Given the description of an element on the screen output the (x, y) to click on. 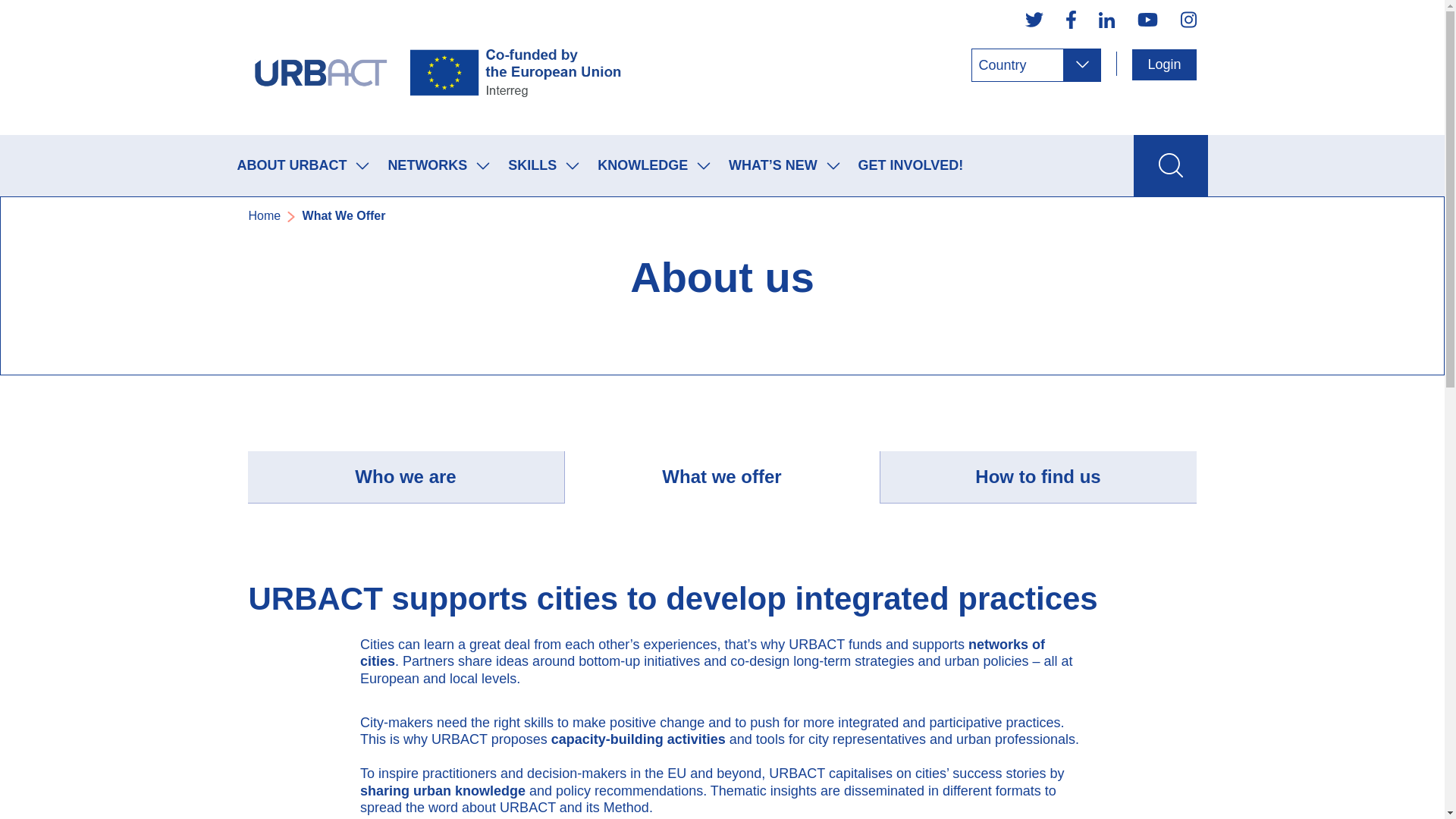
urbact.eu - Homepage (437, 67)
Country (1035, 64)
